Given the description of an element on the screen output the (x, y) to click on. 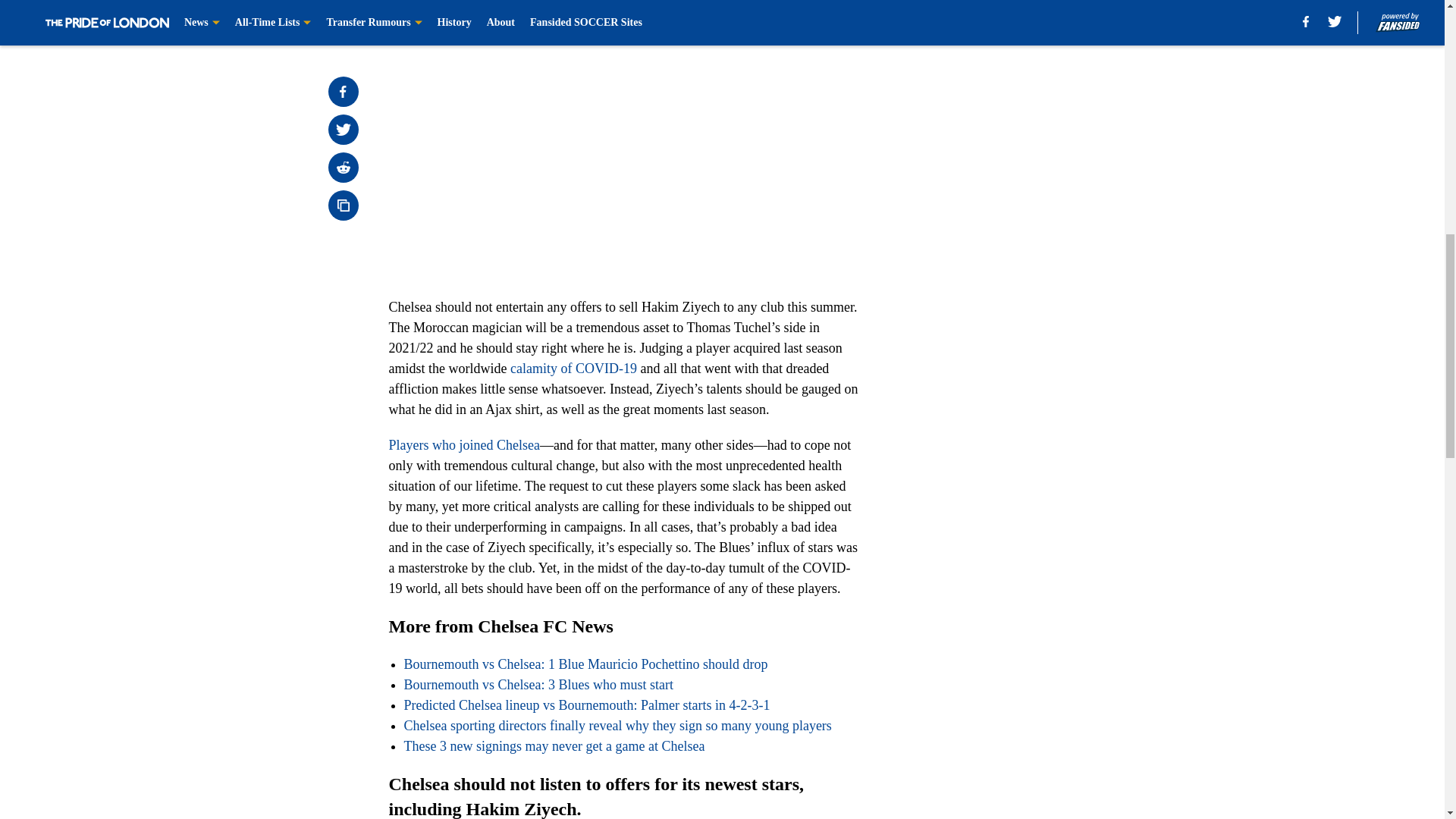
calamity of COVID-19 (574, 368)
These 3 new signings may never get a game at Chelsea (553, 745)
Players who joined Chelsea (463, 444)
Bournemouth vs Chelsea: 3 Blues who must start (537, 684)
